Given the description of an element on the screen output the (x, y) to click on. 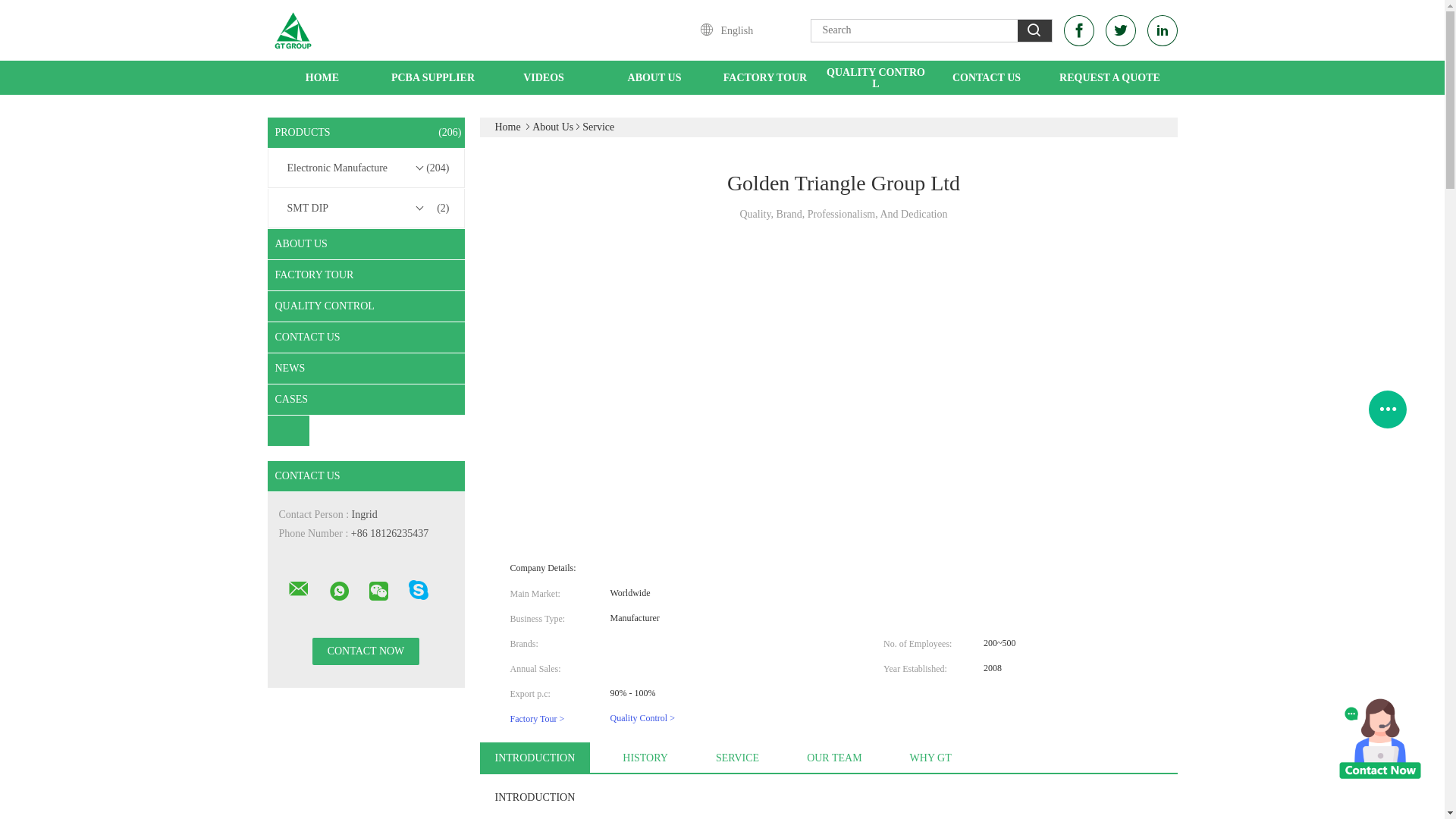
Contact Now (366, 651)
HOME (321, 77)
CONTACT US (986, 77)
PCBA SUPPLIER (432, 77)
REQUEST A QUOTE (1109, 77)
QUALITY CONTROL (875, 77)
FACTORY TOUR (764, 77)
ABOUT US (653, 77)
VIDEOS (542, 77)
